Given the description of an element on the screen output the (x, y) to click on. 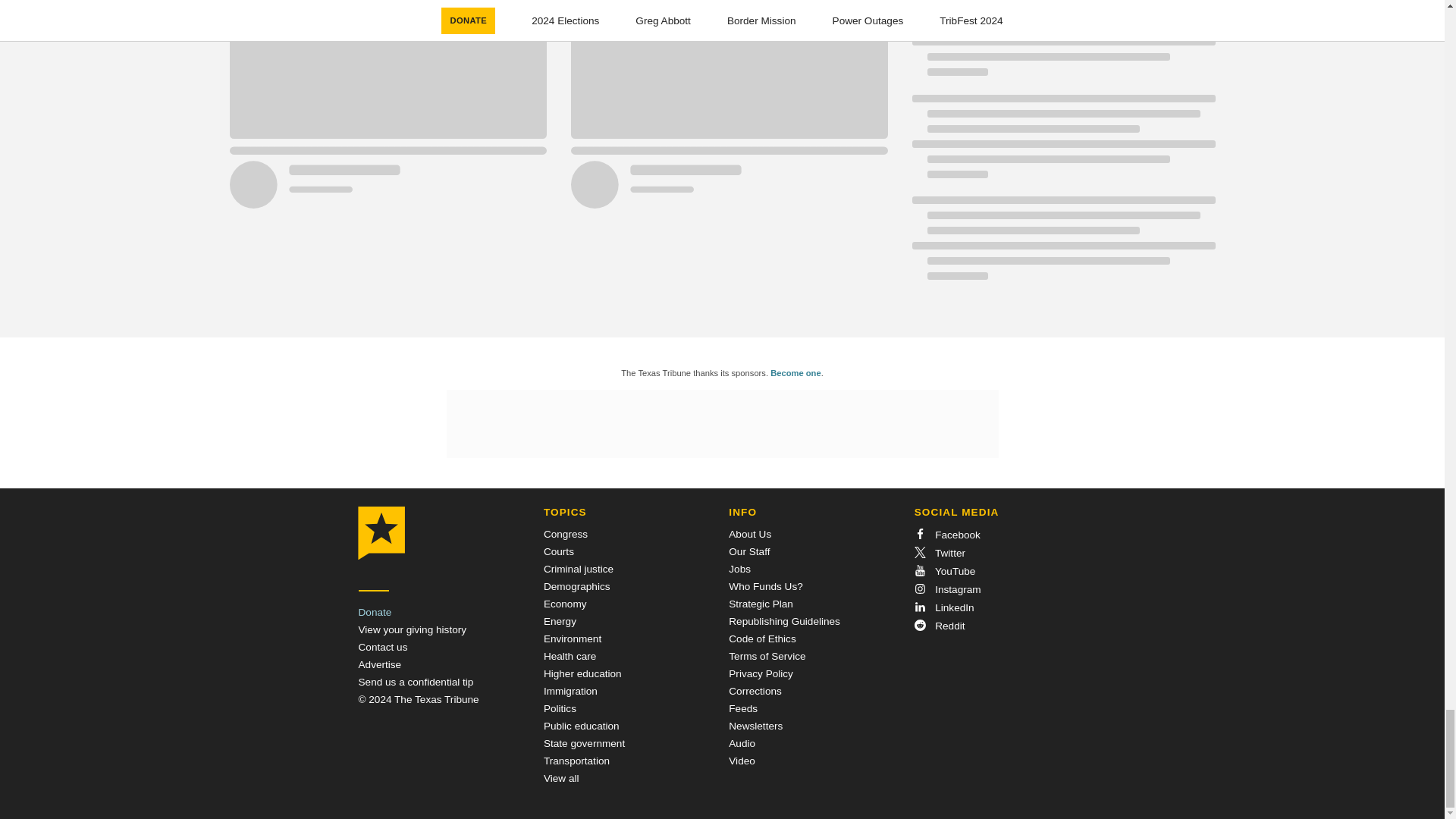
Send a Tip (415, 681)
About Us (750, 533)
Corrections (755, 690)
Donate (374, 612)
Republishing Guidelines (784, 621)
View your giving history (411, 629)
Audio (742, 743)
Code of Ethics (761, 638)
Privacy Policy (761, 673)
Advertise (379, 664)
Who Funds Us? (765, 586)
Contact us (382, 646)
Newsletters (756, 726)
Feeds (743, 708)
Strategic Plan (761, 603)
